Given the description of an element on the screen output the (x, y) to click on. 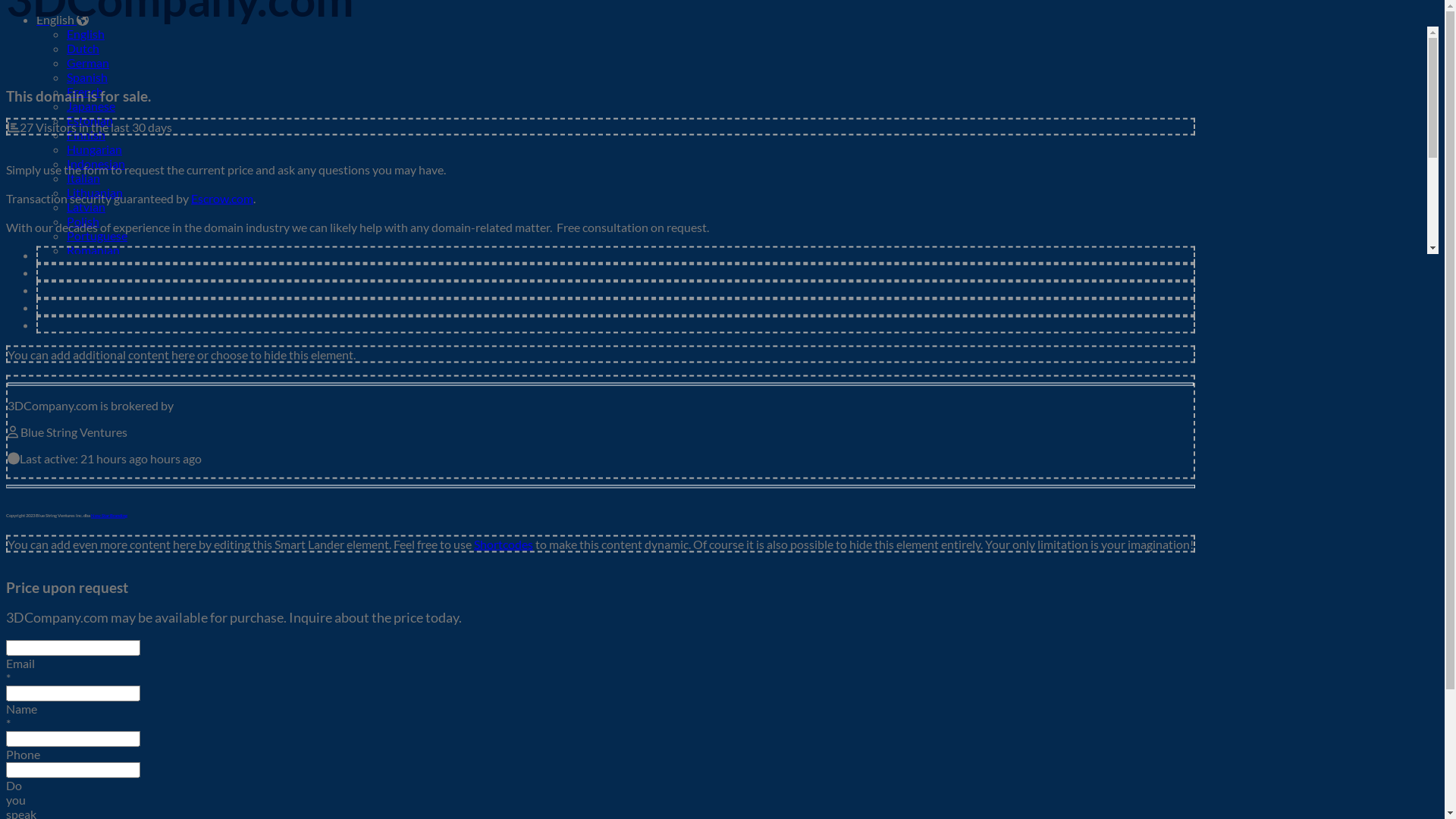
Finnish Element type: text (85, 134)
Polish Element type: text (82, 220)
Hungarian Element type: text (94, 148)
English Element type: text (62, 19)
French Element type: text (84, 91)
Japanese Element type: text (90, 105)
Indonesian Element type: text (95, 163)
Escrow.com Element type: text (222, 198)
Chinese (simplified) Element type: text (117, 350)
Dutch Element type: text (82, 47)
Russian Element type: text (86, 264)
New Star Branding Element type: text (109, 514)
Shortcodes Element type: text (503, 543)
Turkish Element type: text (85, 321)
Latvian Element type: text (85, 206)
Portuguese Element type: text (96, 235)
Danish Element type: text (84, 393)
Slovak Element type: text (83, 278)
Swedish Element type: text (87, 307)
English Element type: text (85, 33)
Estonian Element type: text (89, 119)
Slovenian Element type: text (91, 292)
Italian Element type: text (83, 177)
German Element type: text (87, 62)
Czech Element type: text (82, 379)
Spanish Element type: text (86, 76)
Greek Element type: text (82, 408)
Bulgarian Element type: text (91, 364)
Romanian Element type: text (92, 249)
Ukrainian Element type: text (92, 336)
Lithuanian Element type: text (94, 192)
